Given the description of an element on the screen output the (x, y) to click on. 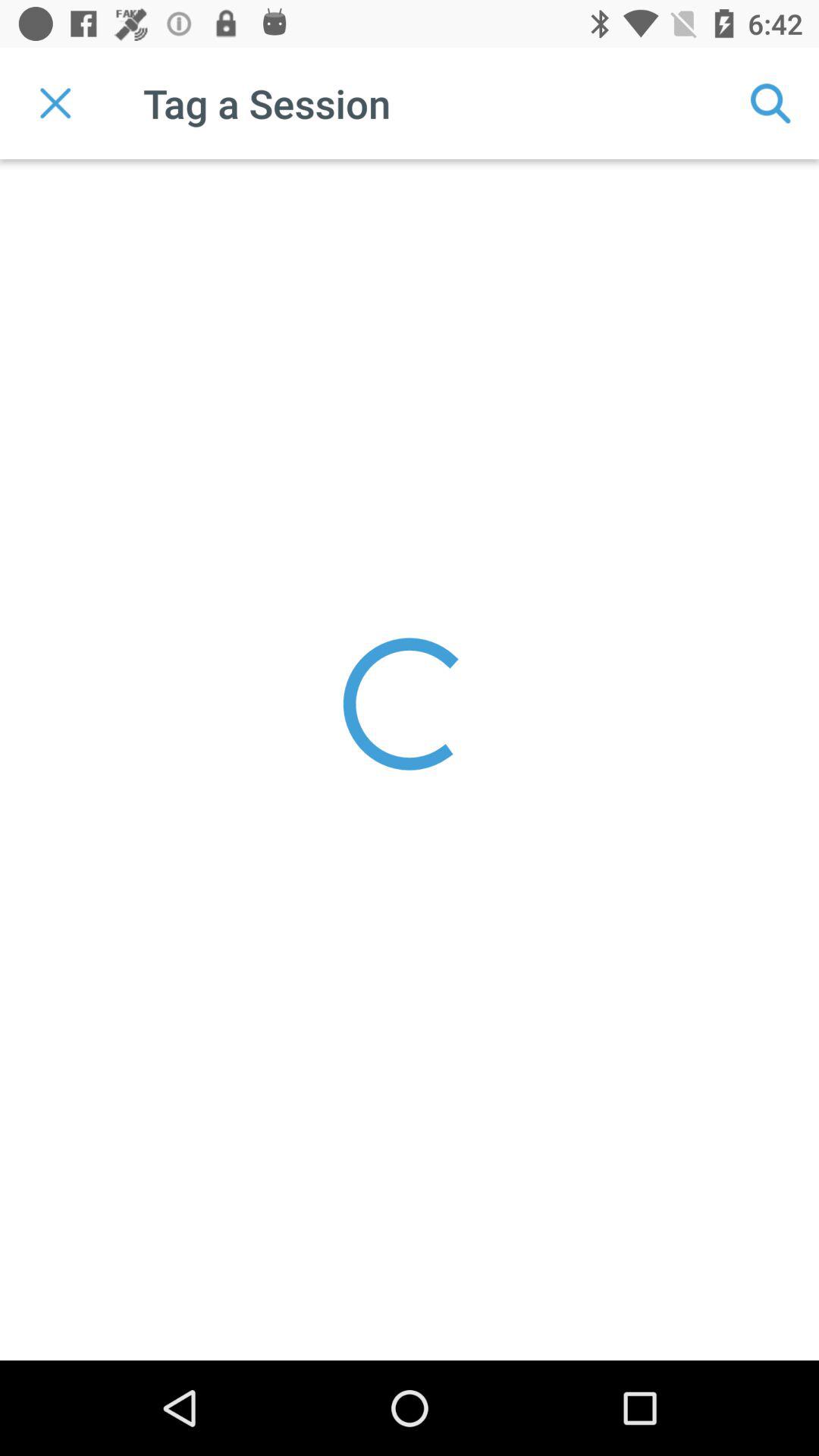
press item next to the tag a session icon (55, 103)
